Given the description of an element on the screen output the (x, y) to click on. 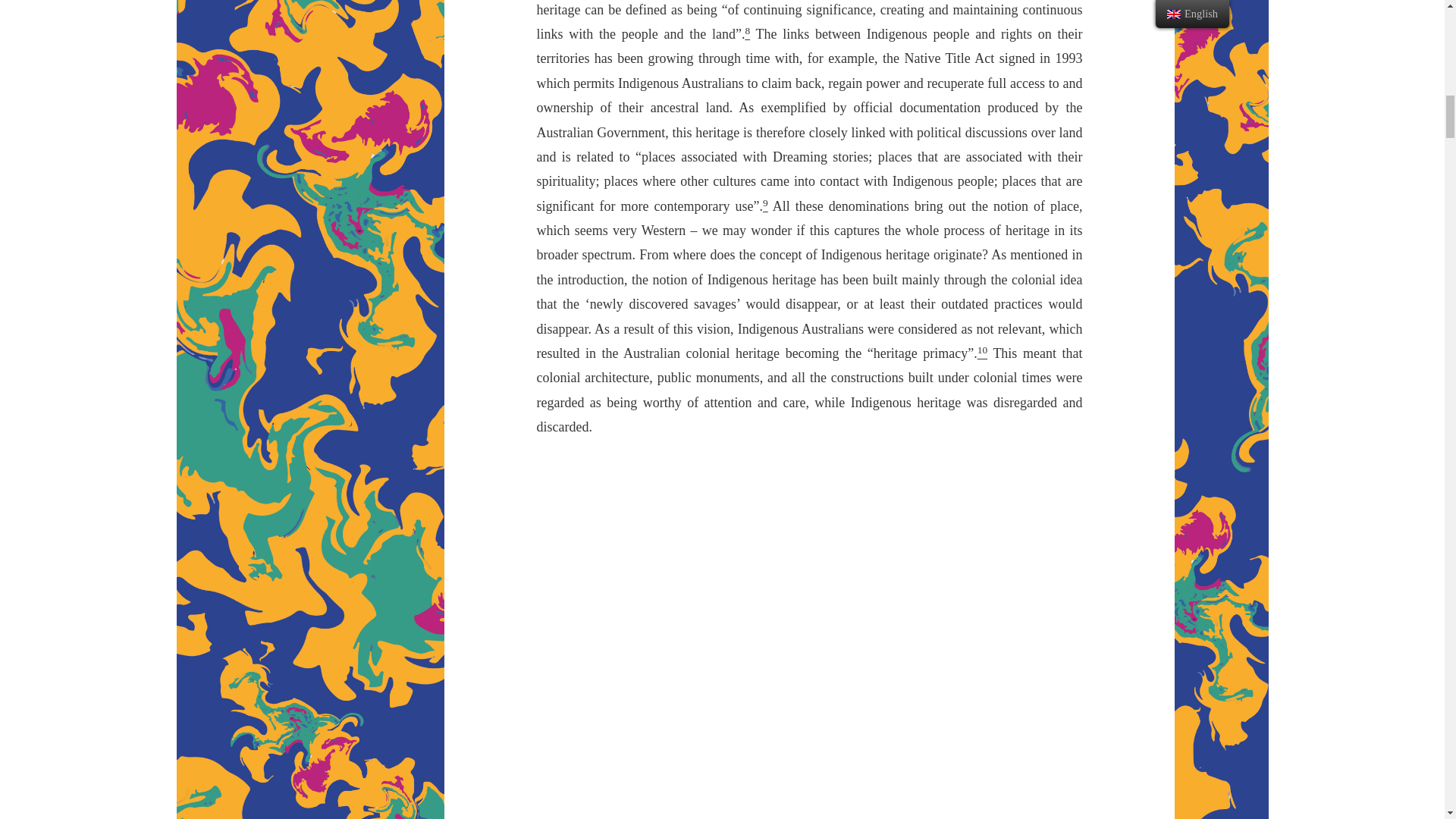
10 (982, 353)
8 (746, 33)
9 (765, 206)
